Given the description of an element on the screen output the (x, y) to click on. 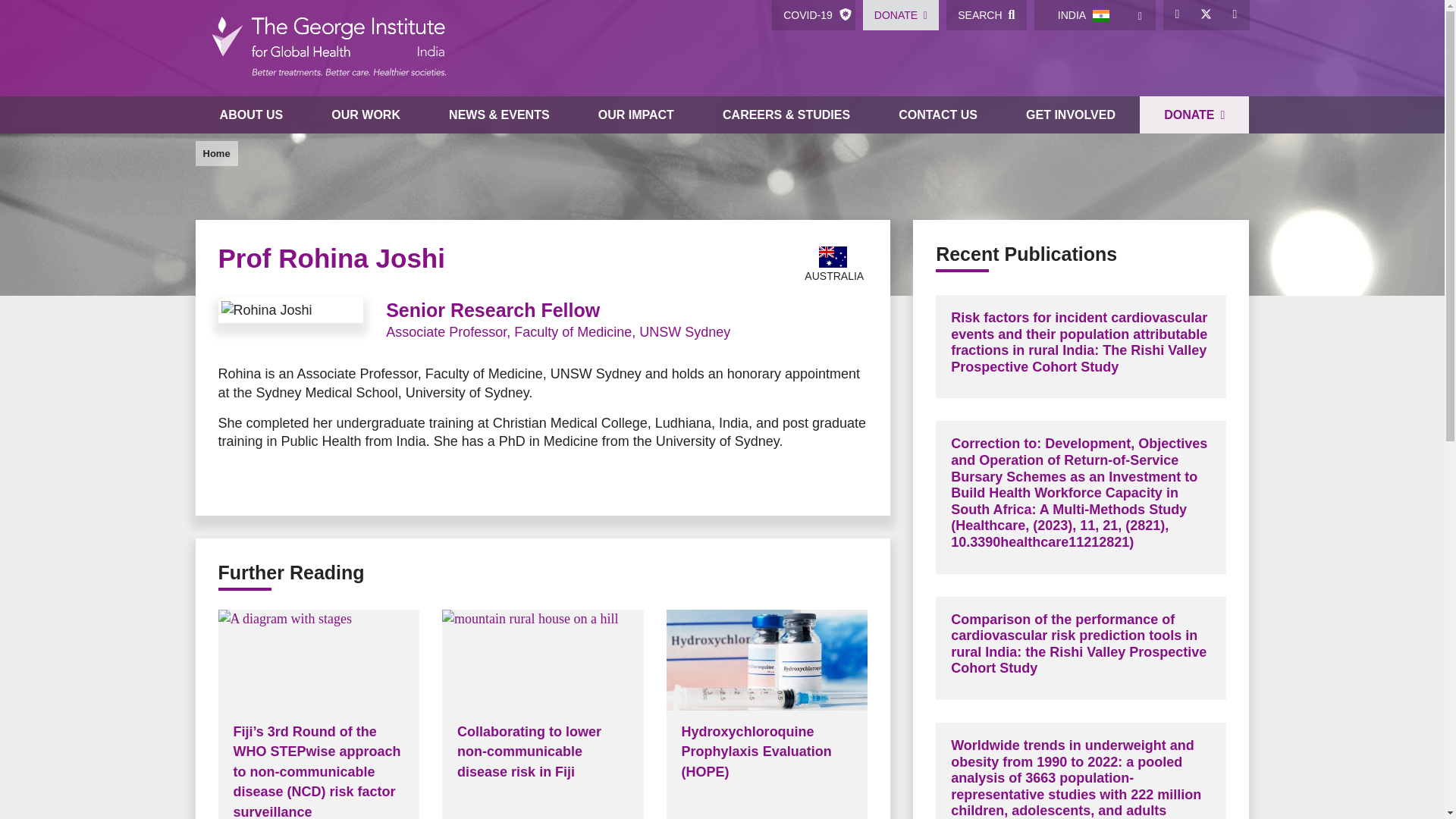
Skip to main content (721, 1)
OUR WORK (366, 114)
Home (328, 48)
COVID-19 (813, 15)
SEARCH (986, 15)
Twitter (1206, 15)
Select country (1140, 15)
DONATE (901, 15)
YouTube (1235, 15)
Facebook (1177, 15)
ABOUT US (251, 114)
